Given the description of an element on the screen output the (x, y) to click on. 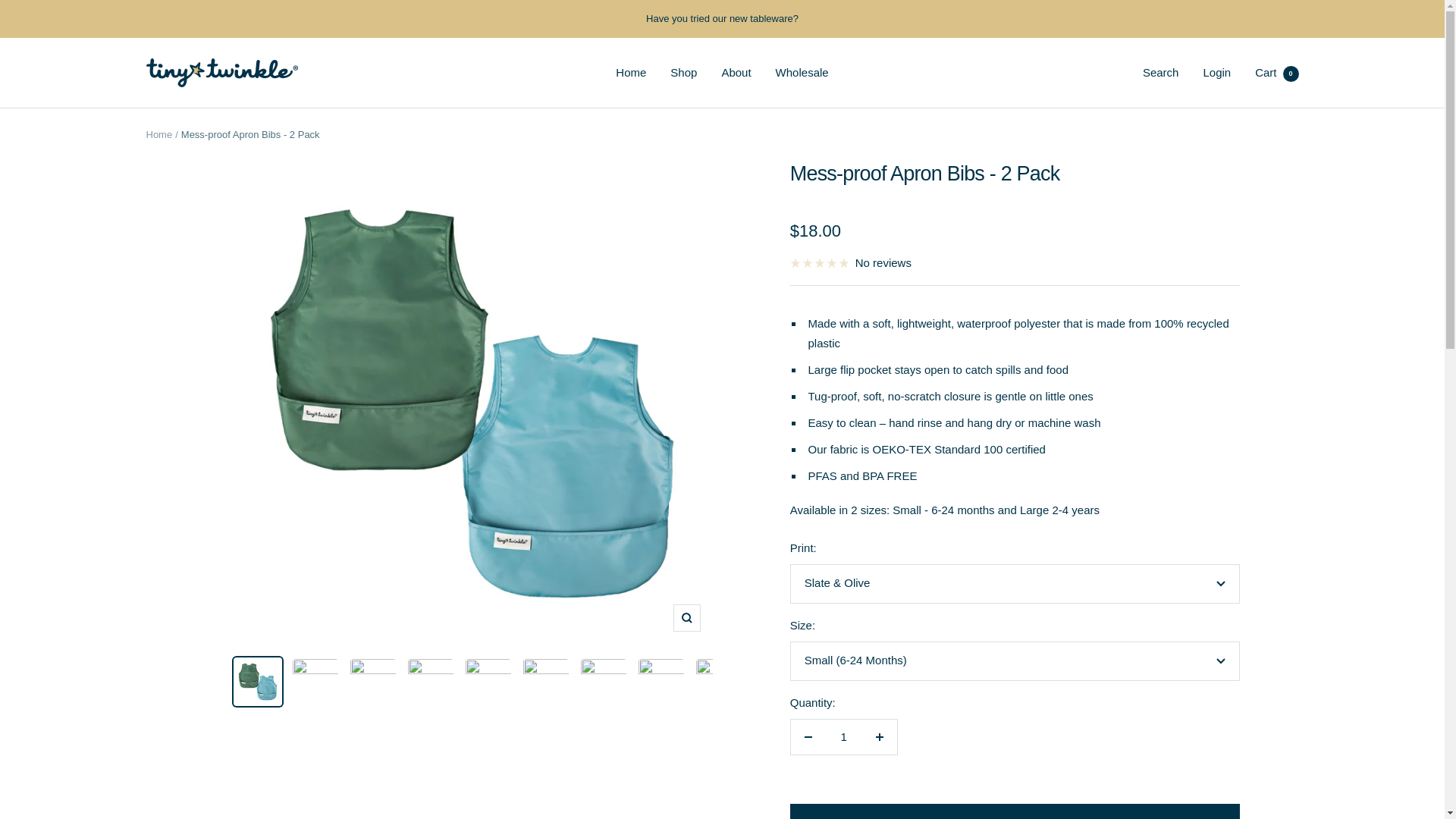
About (735, 72)
Zoom (686, 617)
Home (158, 134)
Home (630, 72)
Shop (683, 72)
Search (1160, 72)
Login (1216, 72)
Tiny Twinkle (221, 72)
1 (1276, 72)
Wholesale (843, 736)
